Given the description of an element on the screen output the (x, y) to click on. 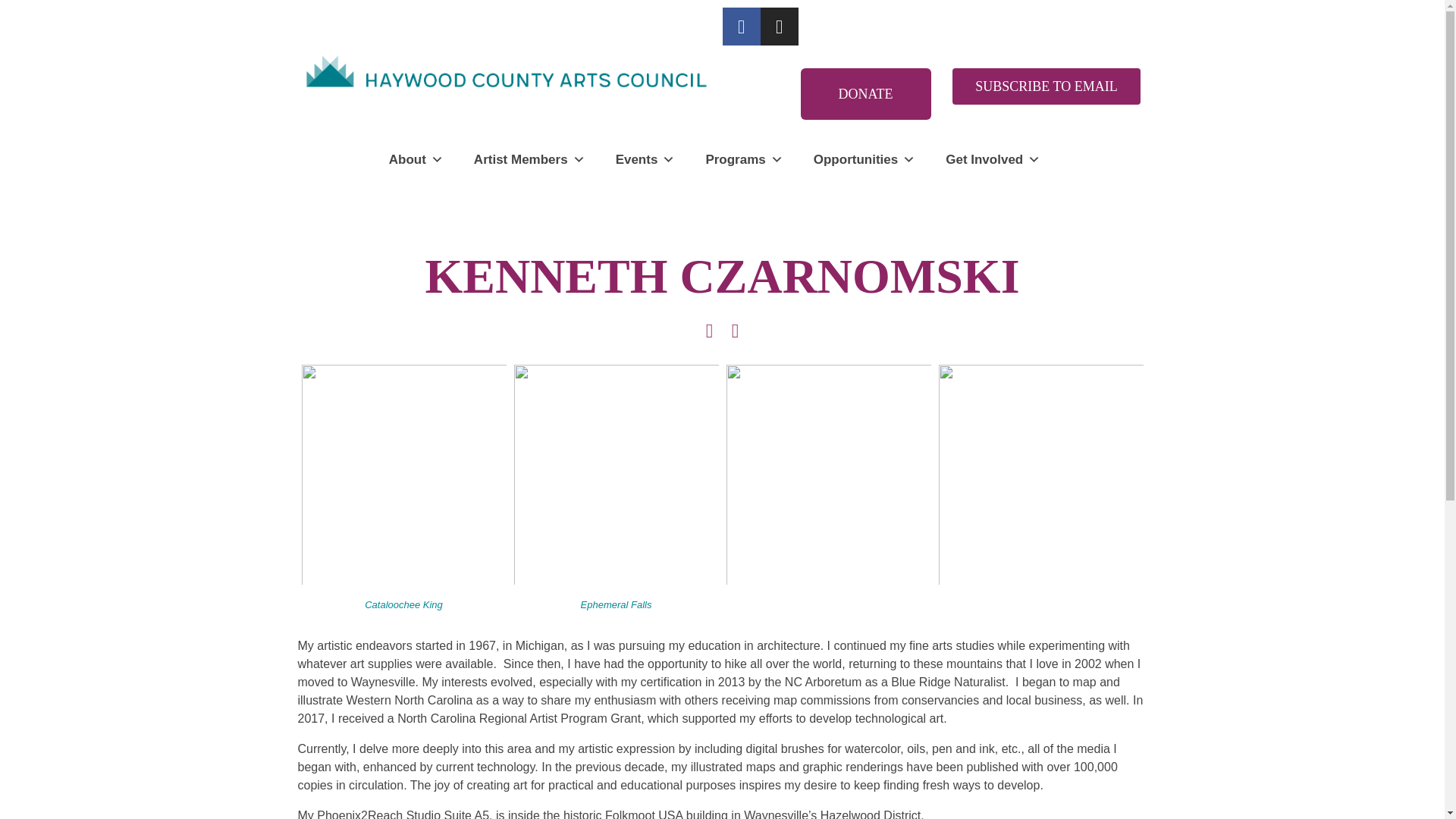
SUBSCRIBE TO EMAIL (1046, 85)
Programs (743, 159)
Events (645, 159)
DONATE (865, 93)
Artist Members (528, 159)
About (416, 159)
